Given the description of an element on the screen output the (x, y) to click on. 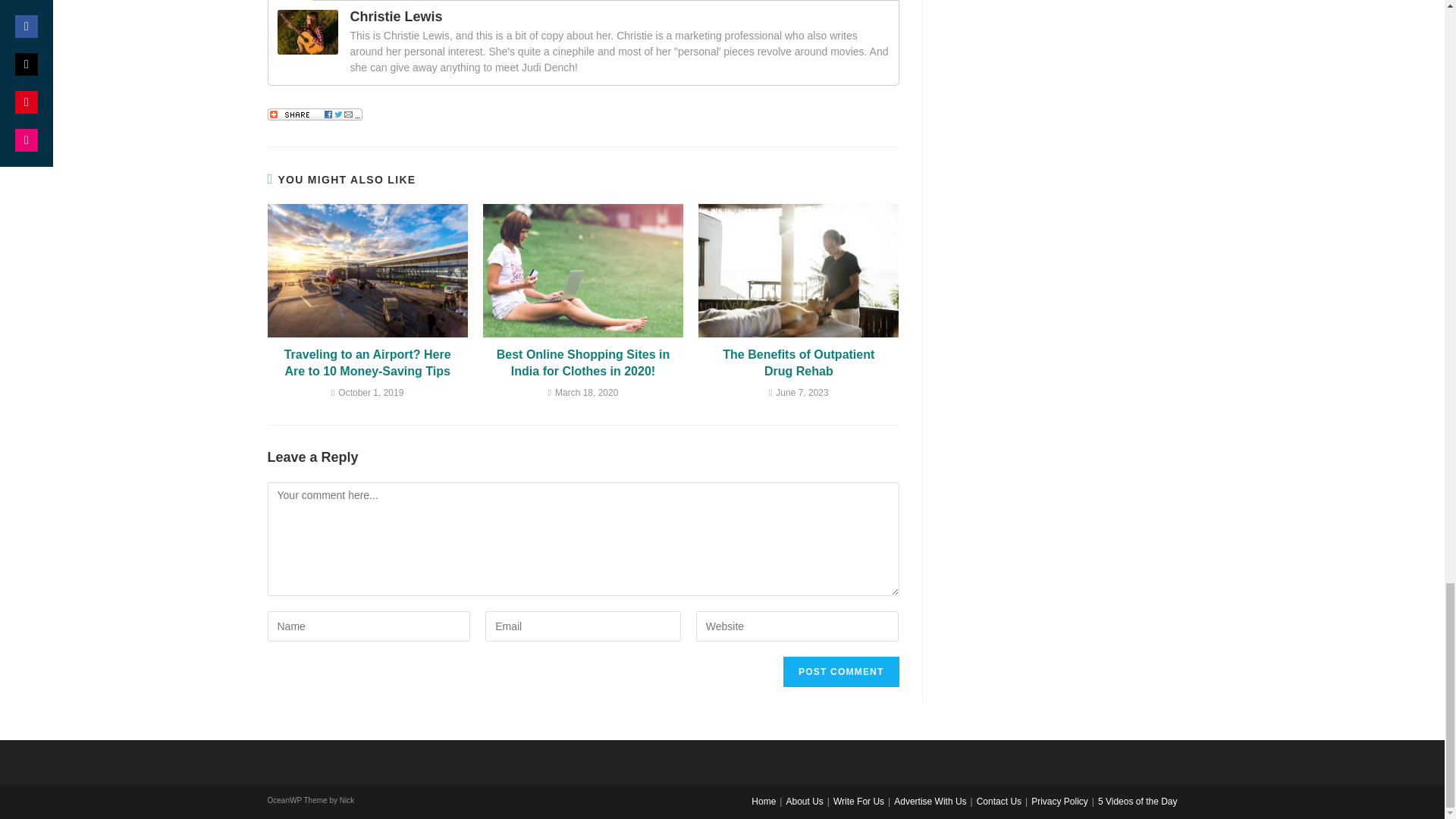
Christie Lewis (307, 30)
The Benefits of Outpatient Drug Rehab (798, 363)
Post Comment (840, 671)
Traveling to an Airport? Here Are to 10 Money-Saving Tips (367, 363)
Best Online Shopping Sites in India for Clothes in 2020! (583, 363)
